Given the description of an element on the screen output the (x, y) to click on. 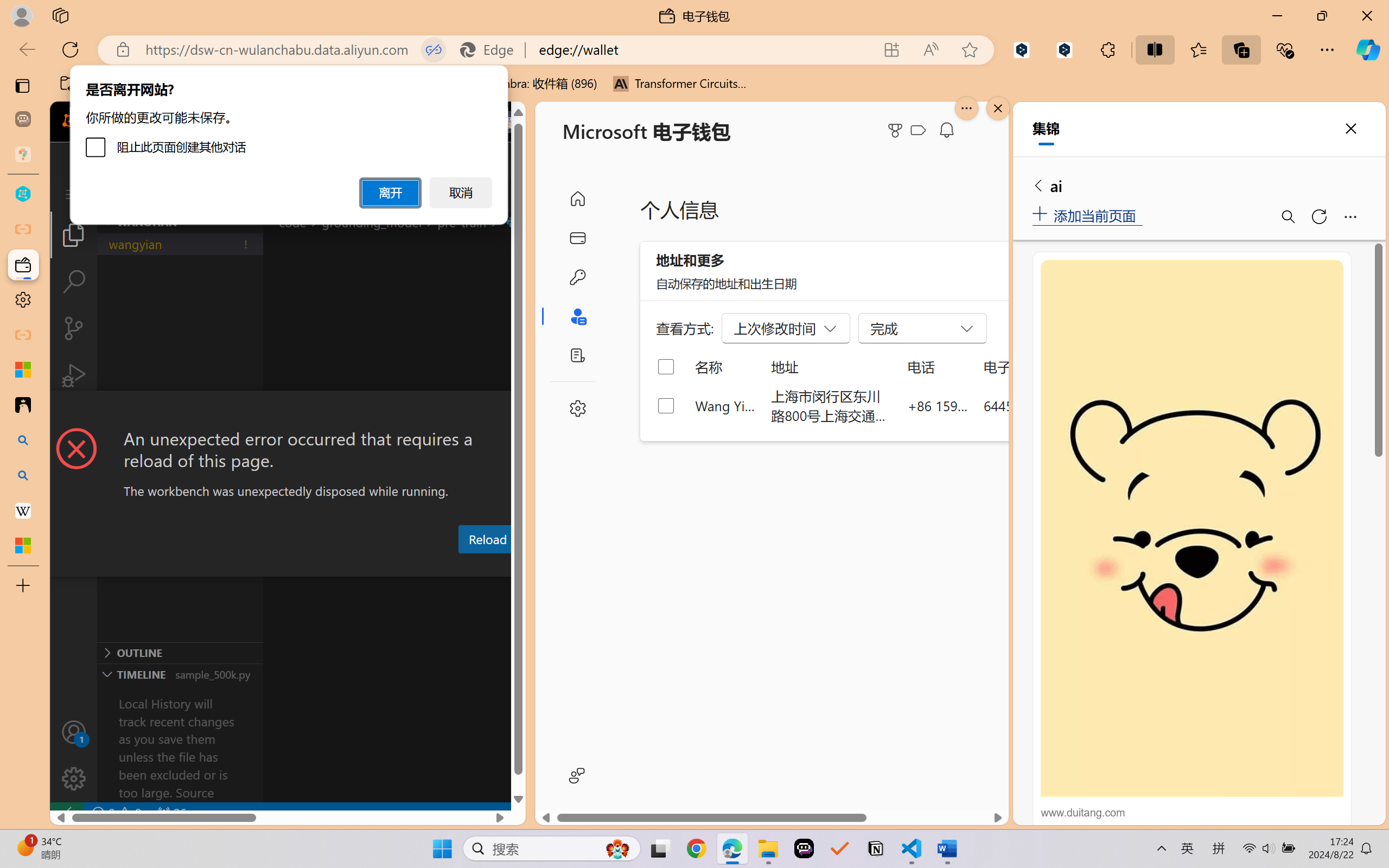
Outline Section (179, 652)
Wang Yian (725, 405)
+86 159 0032 4640 (938, 405)
644553698@qq.com (1043, 405)
Run and Debug (Ctrl+Shift+D) (73, 375)
Accounts - Sign in requested (73, 732)
